Given the description of an element on the screen output the (x, y) to click on. 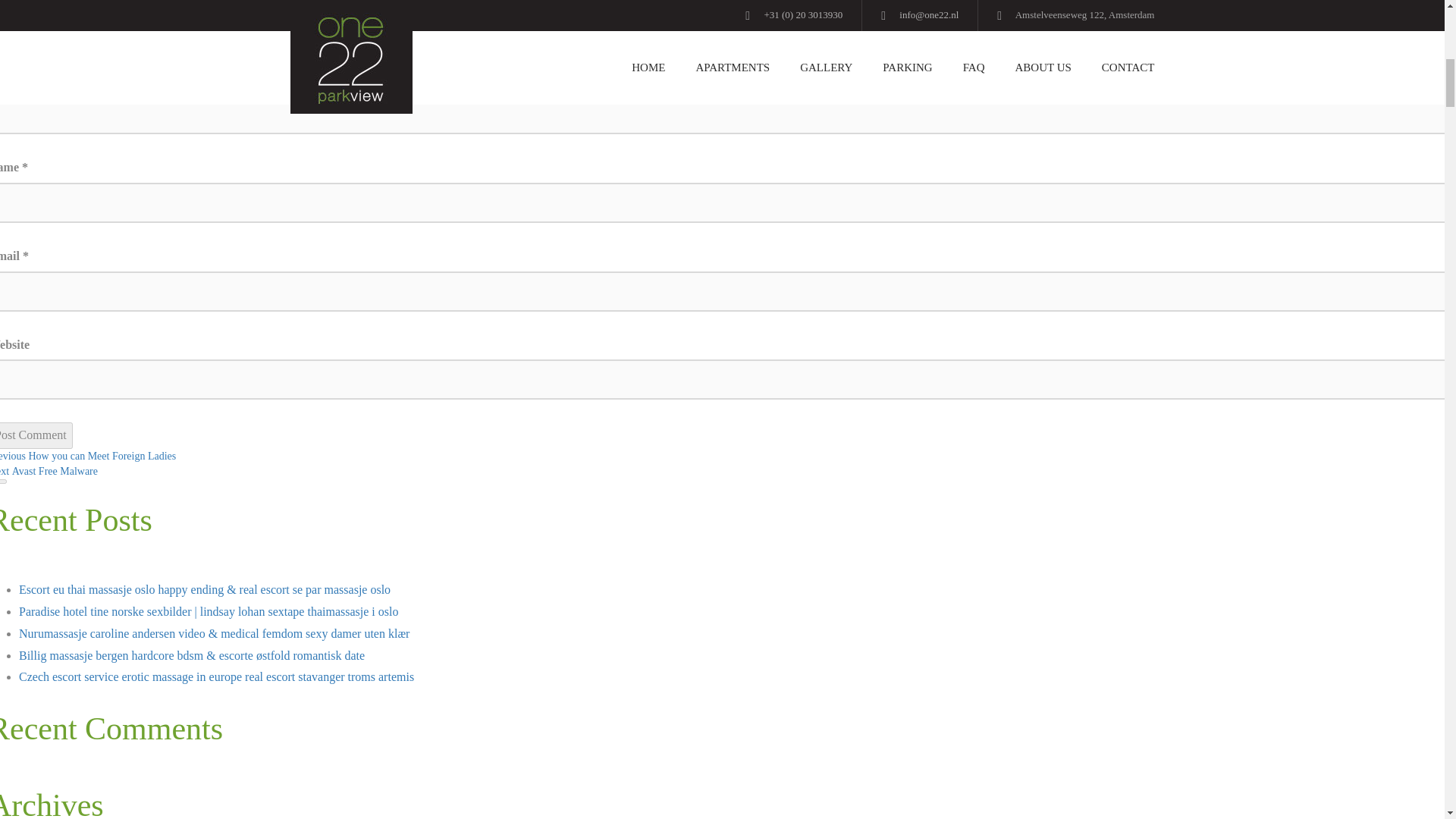
Post Comment (36, 435)
Search (3, 481)
Post Comment (88, 455)
